Given the description of an element on the screen output the (x, y) to click on. 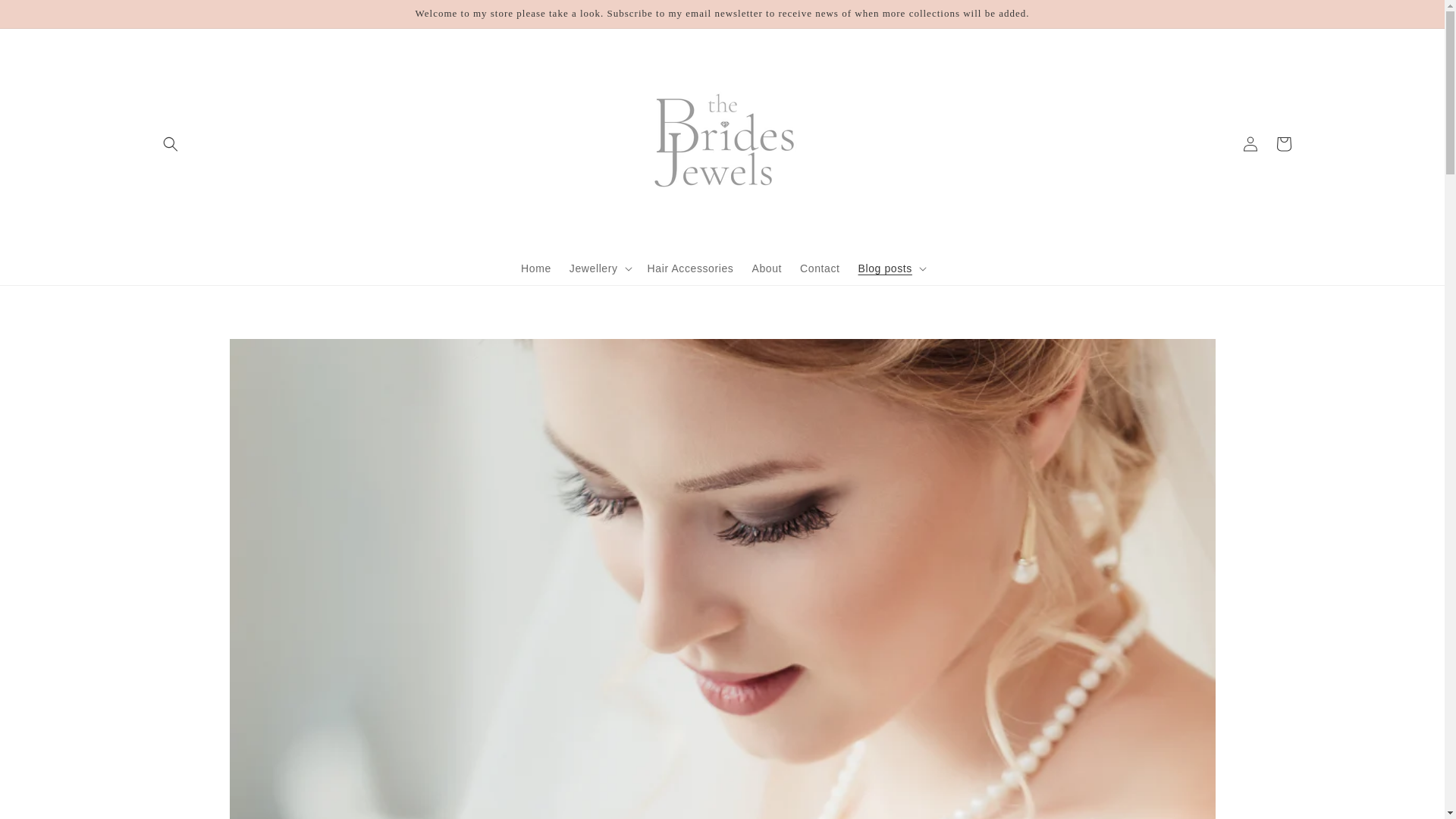
Home (536, 268)
About (766, 268)
Contact (819, 268)
Cart (1283, 143)
Hair Accessories (690, 268)
Log in (1249, 143)
Skip to content (45, 16)
